Given the description of an element on the screen output the (x, y) to click on. 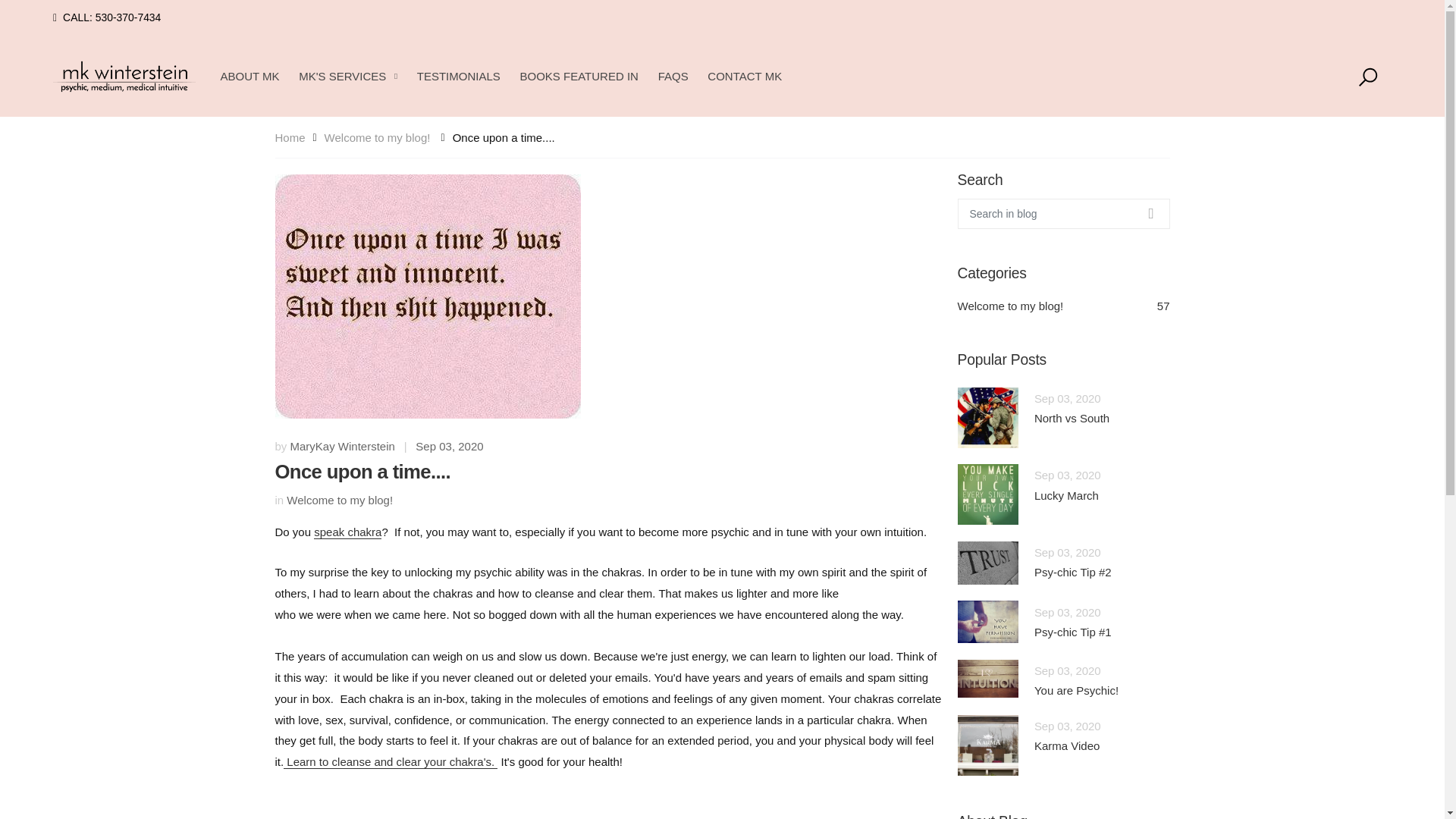
BOOKS FEATURED IN (578, 76)
Home (289, 137)
Welcome to my blog! (1062, 306)
CALL: 530-370-7434 (106, 18)
Welcome to my blog! (377, 137)
Home (289, 137)
speak chakra (347, 531)
Welcome to my blog! (339, 499)
CONTACT MK (744, 76)
Learn to cleanse and clear your chakra's. (390, 761)
